Given the description of an element on the screen output the (x, y) to click on. 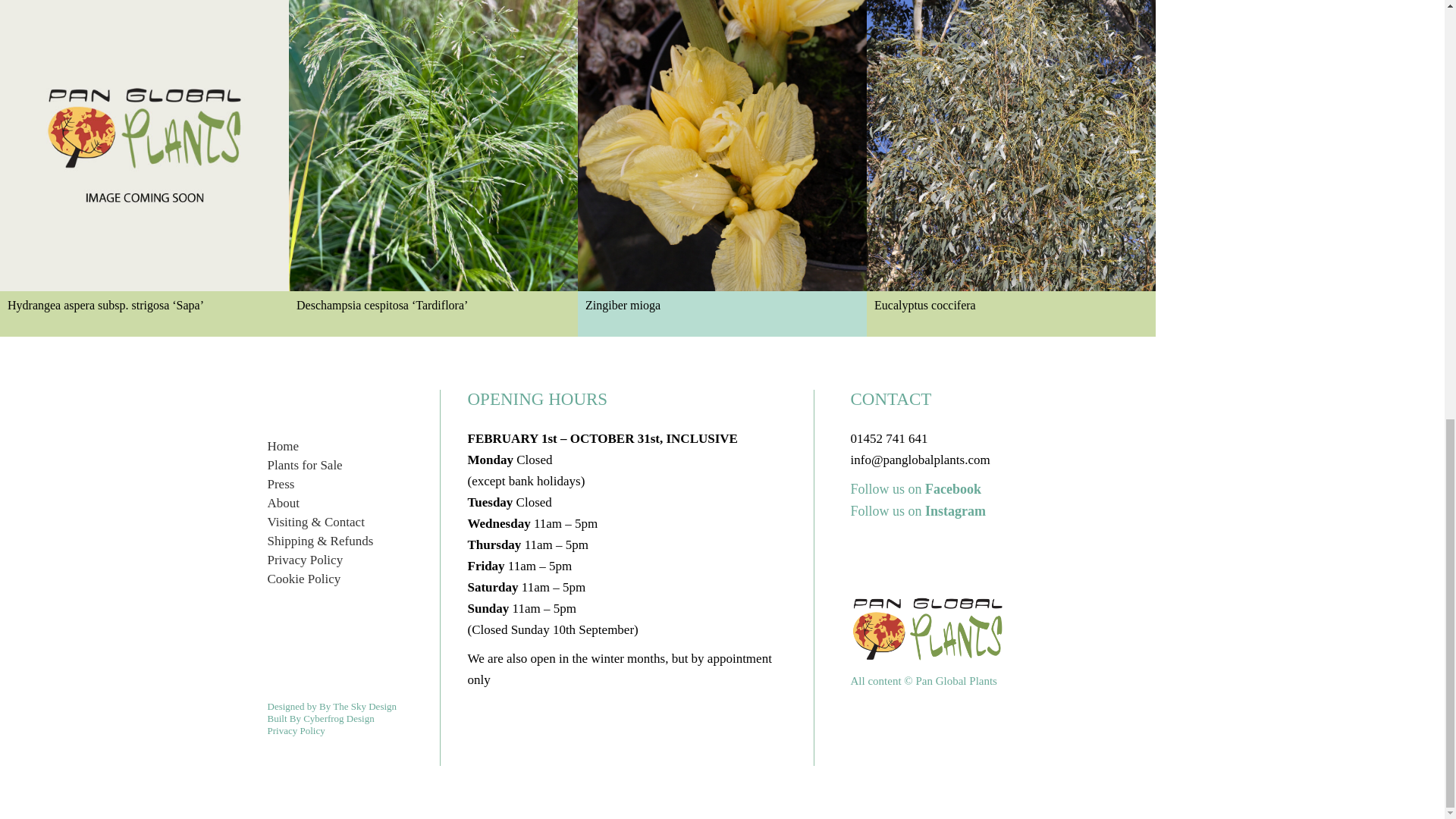
Zingiber mioga (722, 168)
About (282, 503)
Home (282, 445)
Cookie Policy (303, 578)
Privacy Policy (295, 730)
Press (280, 483)
Privacy Policy (304, 559)
Plants for Sale (304, 464)
Eucalyptus coccifera (1011, 168)
By The Sky Design (357, 706)
Cyberfrog Design (338, 717)
